Given the description of an element on the screen output the (x, y) to click on. 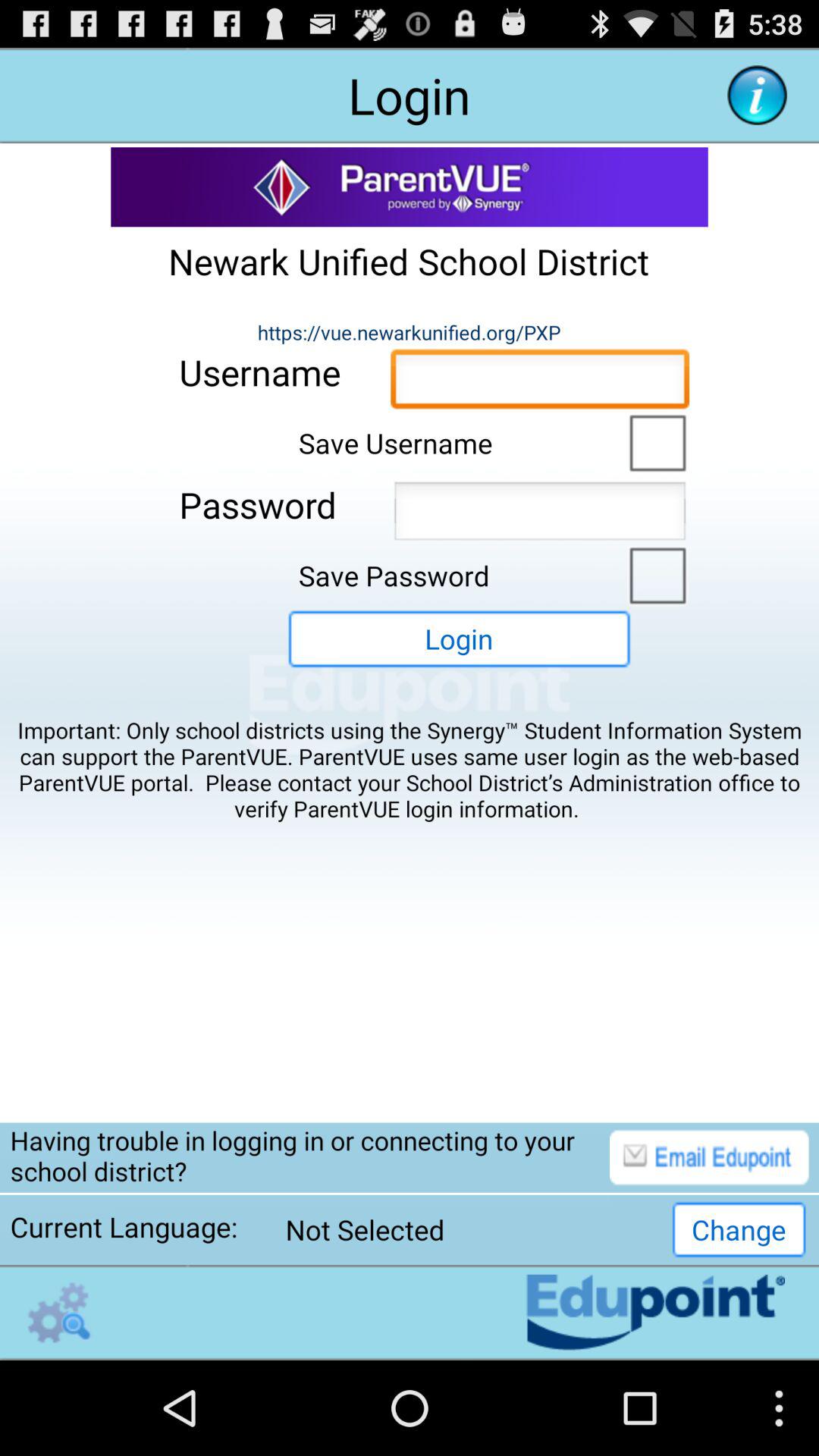
select the endupoint (59, 1312)
